Given the description of an element on the screen output the (x, y) to click on. 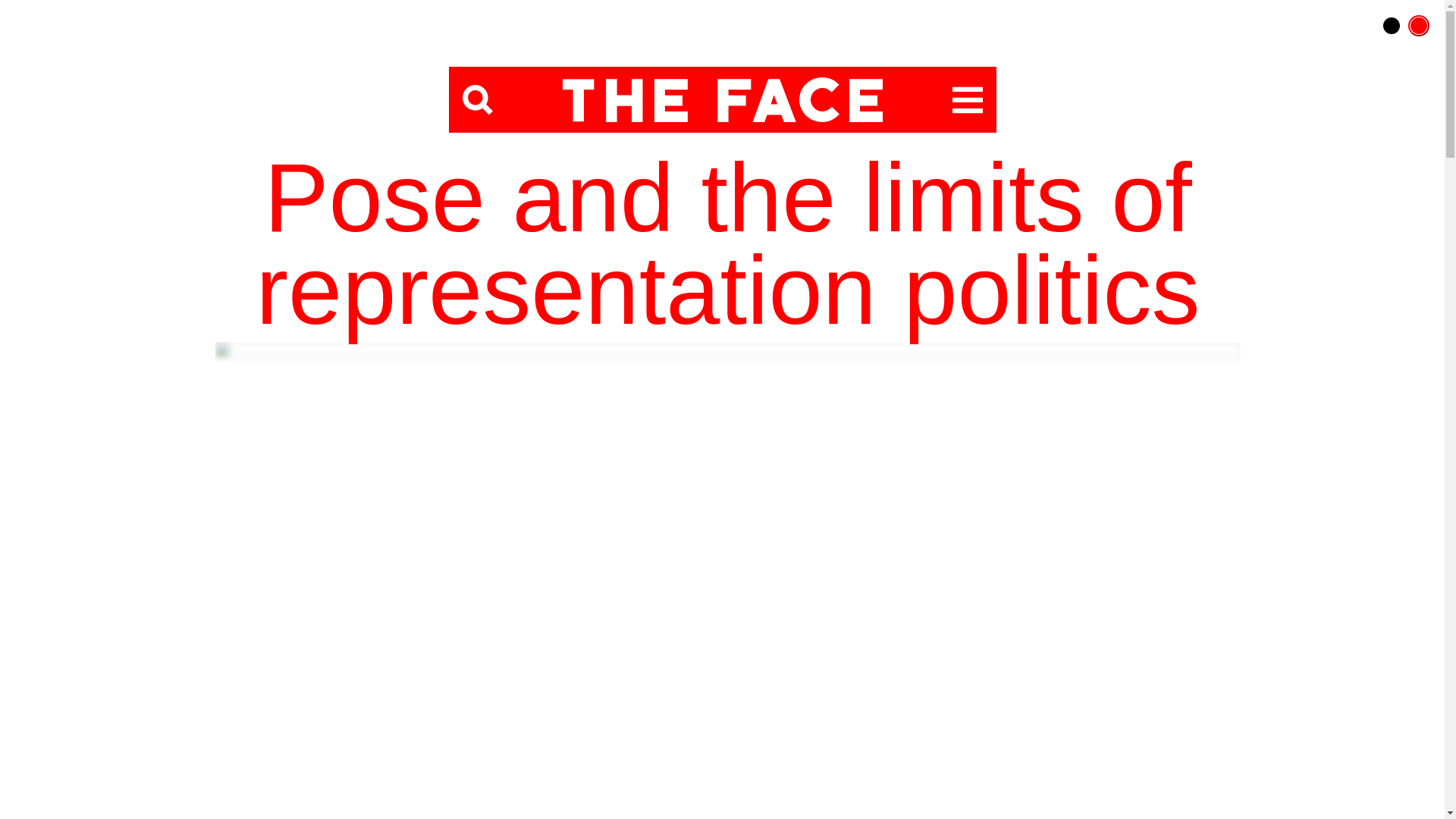
Reveal menu (967, 100)
Reveal search bar (478, 100)
